Given the description of an element on the screen output the (x, y) to click on. 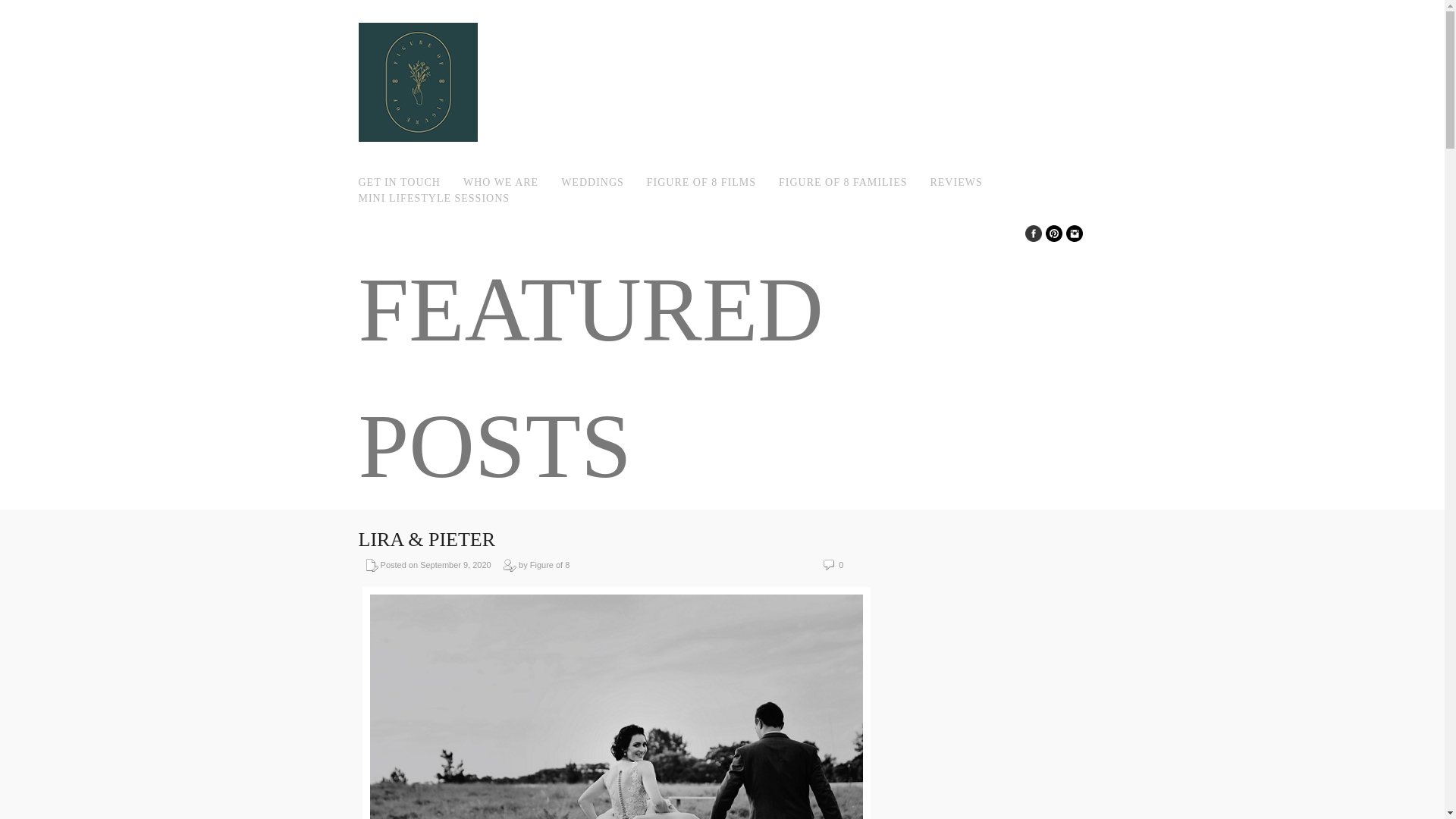
WEDDINGS (592, 182)
REVIEWS (955, 182)
FIGURE OF 8 FAMILIES (842, 182)
FIGURE OF 8 FILMS (700, 182)
MINI LIFESTYLE SESSIONS (433, 198)
GET IN TOUCH (398, 182)
WHO WE ARE (500, 182)
